Given the description of an element on the screen output the (x, y) to click on. 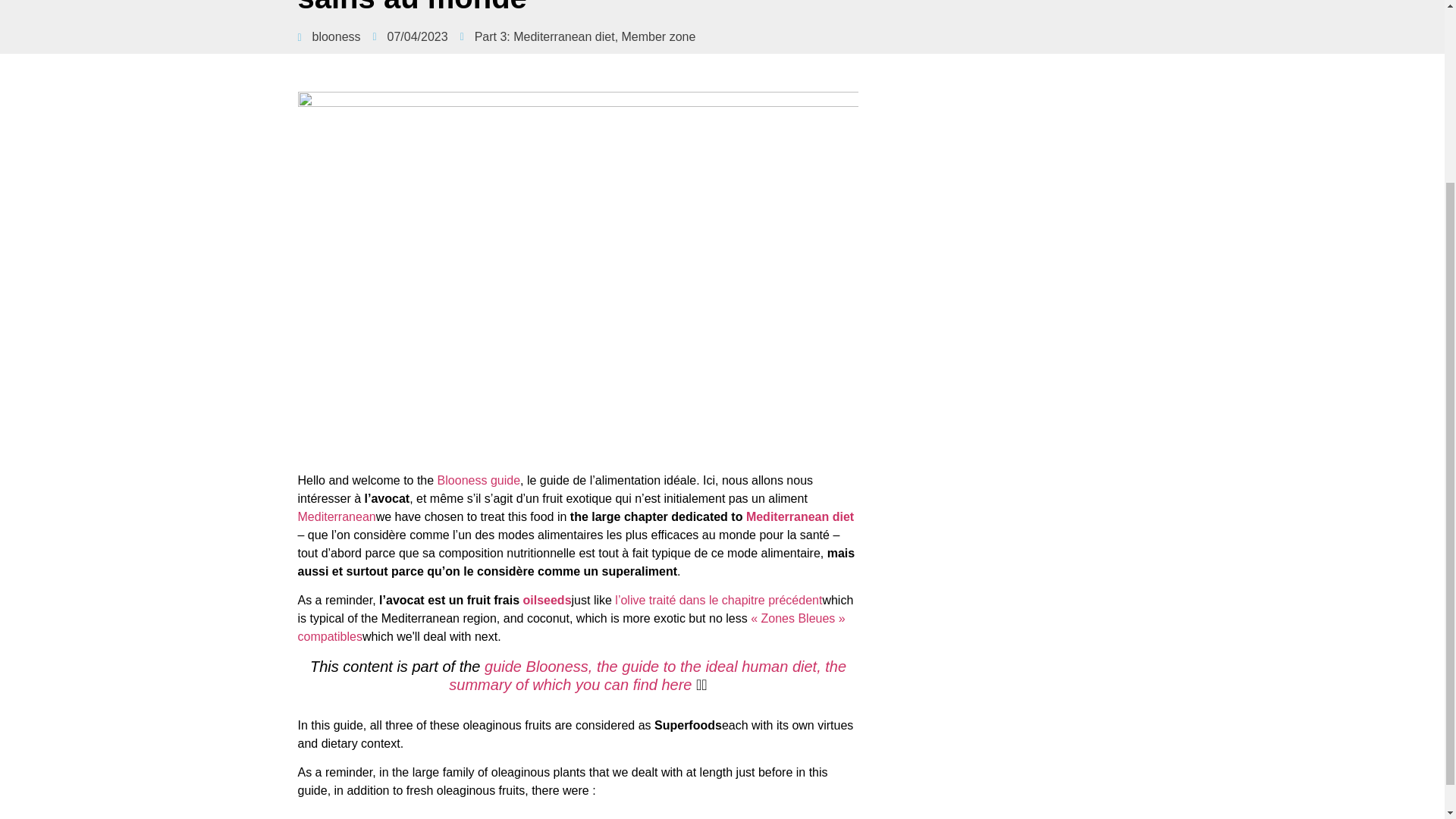
oilseeds (547, 599)
Mediterranean (336, 516)
Part 3: Mediterranean diet (544, 36)
Member zone (658, 36)
blooness (328, 36)
Mediterranean diet (799, 516)
Blooness guide (478, 480)
